Given the description of an element on the screen output the (x, y) to click on. 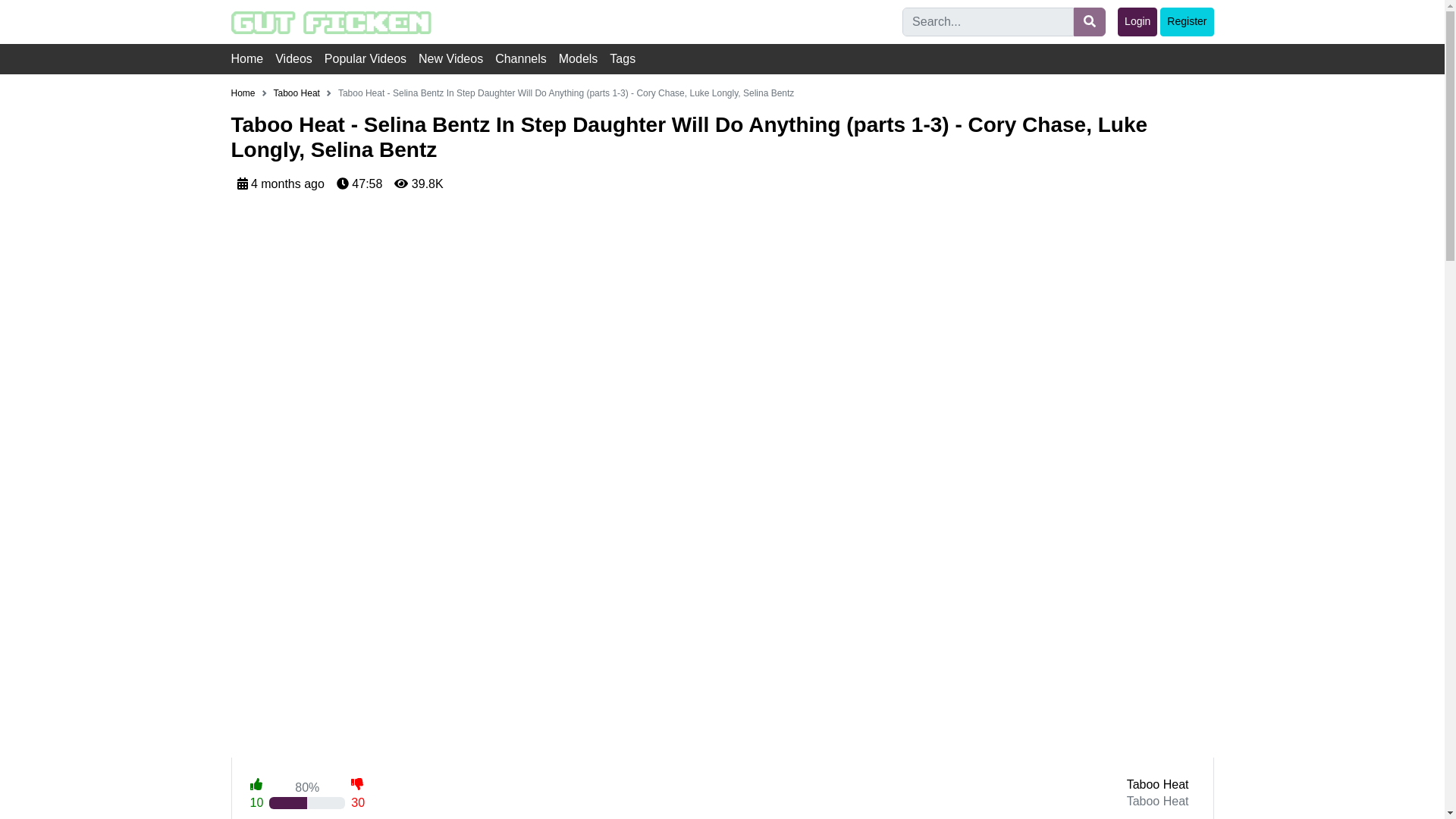
Home (242, 92)
Channels (527, 59)
Register (1186, 21)
Taboo Heat (296, 92)
Popular Videos (371, 59)
Login (1137, 21)
Home (252, 59)
Models (584, 59)
Tags (628, 59)
Taboo Heat (1157, 784)
